Given the description of an element on the screen output the (x, y) to click on. 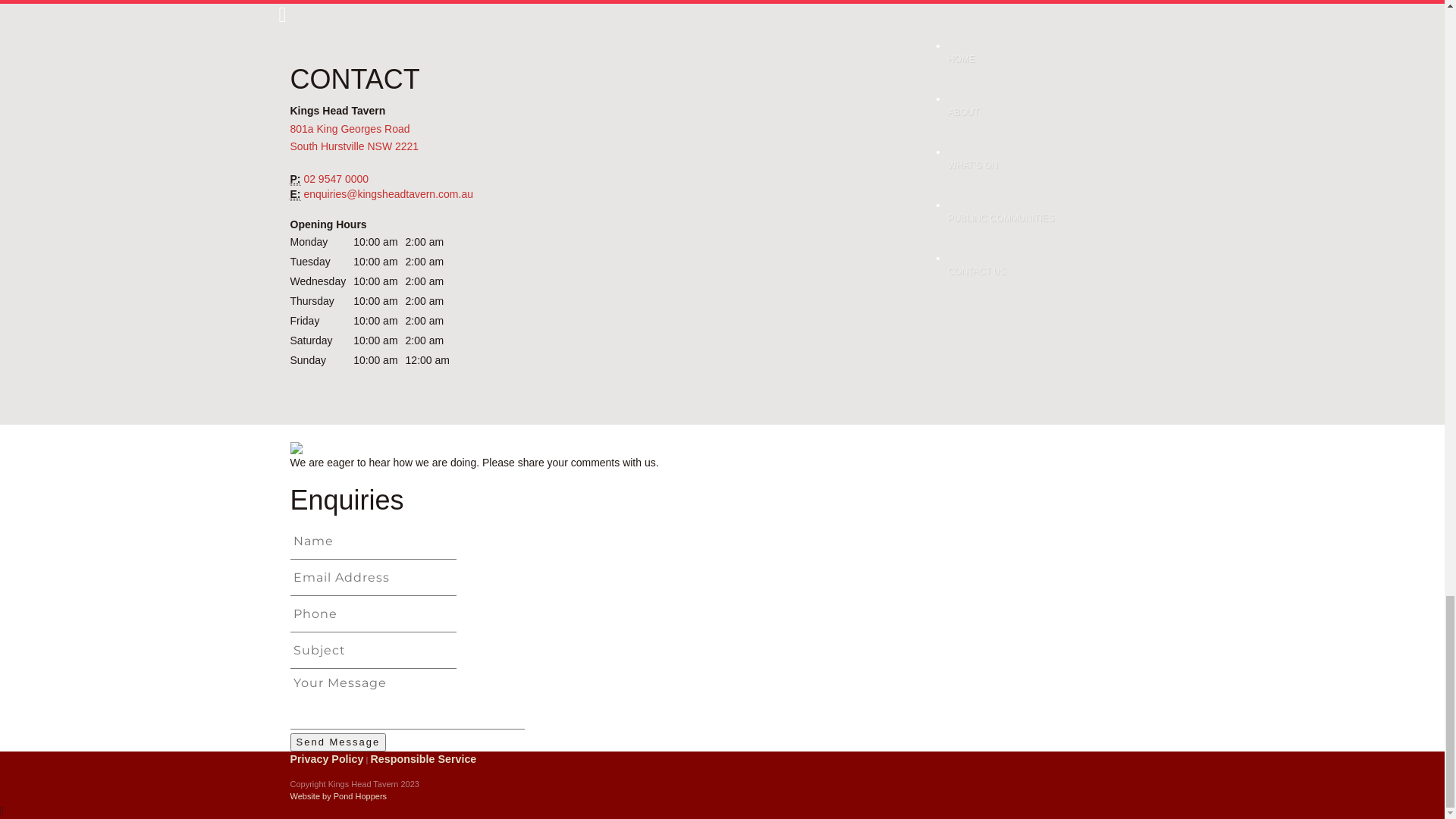
Thursday Night Raffles Element type: text (993, 696)
